Given the description of an element on the screen output the (x, y) to click on. 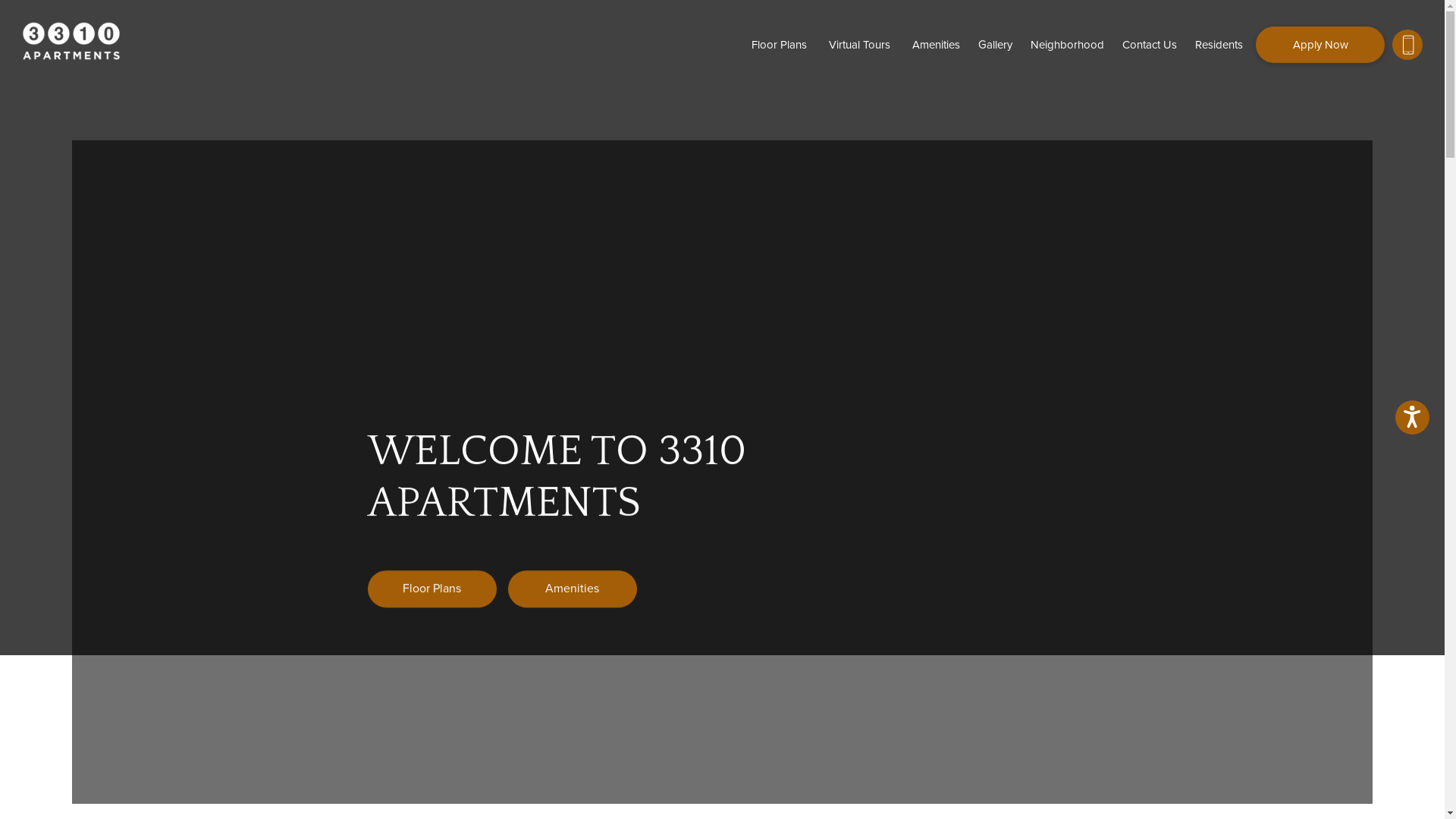
Floor Plans Element type: text (778, 44)
Floor Plans Element type: text (431, 588)
Amenities Element type: text (572, 588)
Gallery Element type: text (995, 44)
Neighborhood Element type: text (1067, 44)
Contact Us Element type: text (1149, 44)
Residents Element type: text (1219, 44)
3310 Apartments Element type: hover (71, 40)
Amenities Element type: text (936, 44)
Click Me Element type: hover (1407, 44)
Apply Now Element type: text (1319, 43)
Virtual Tours Element type: text (859, 44)
